Given the description of an element on the screen output the (x, y) to click on. 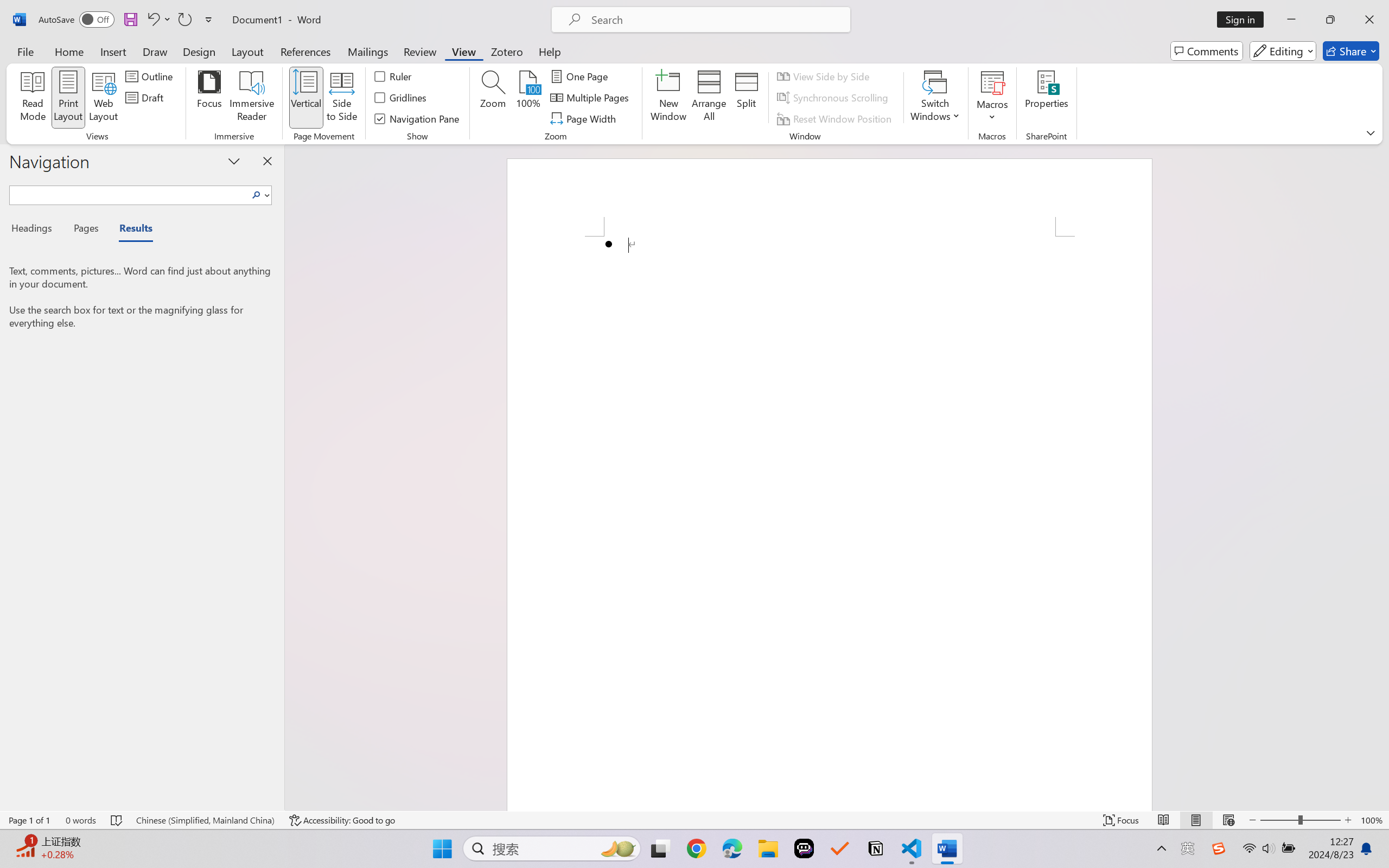
Undo Bullet Default (152, 19)
Properties (1046, 97)
100% (528, 97)
Switch Windows (935, 97)
Arrange All (708, 97)
Reset Window Position (835, 118)
Multiple Pages (591, 97)
Pages (85, 229)
Headings (35, 229)
